Given the description of an element on the screen output the (x, y) to click on. 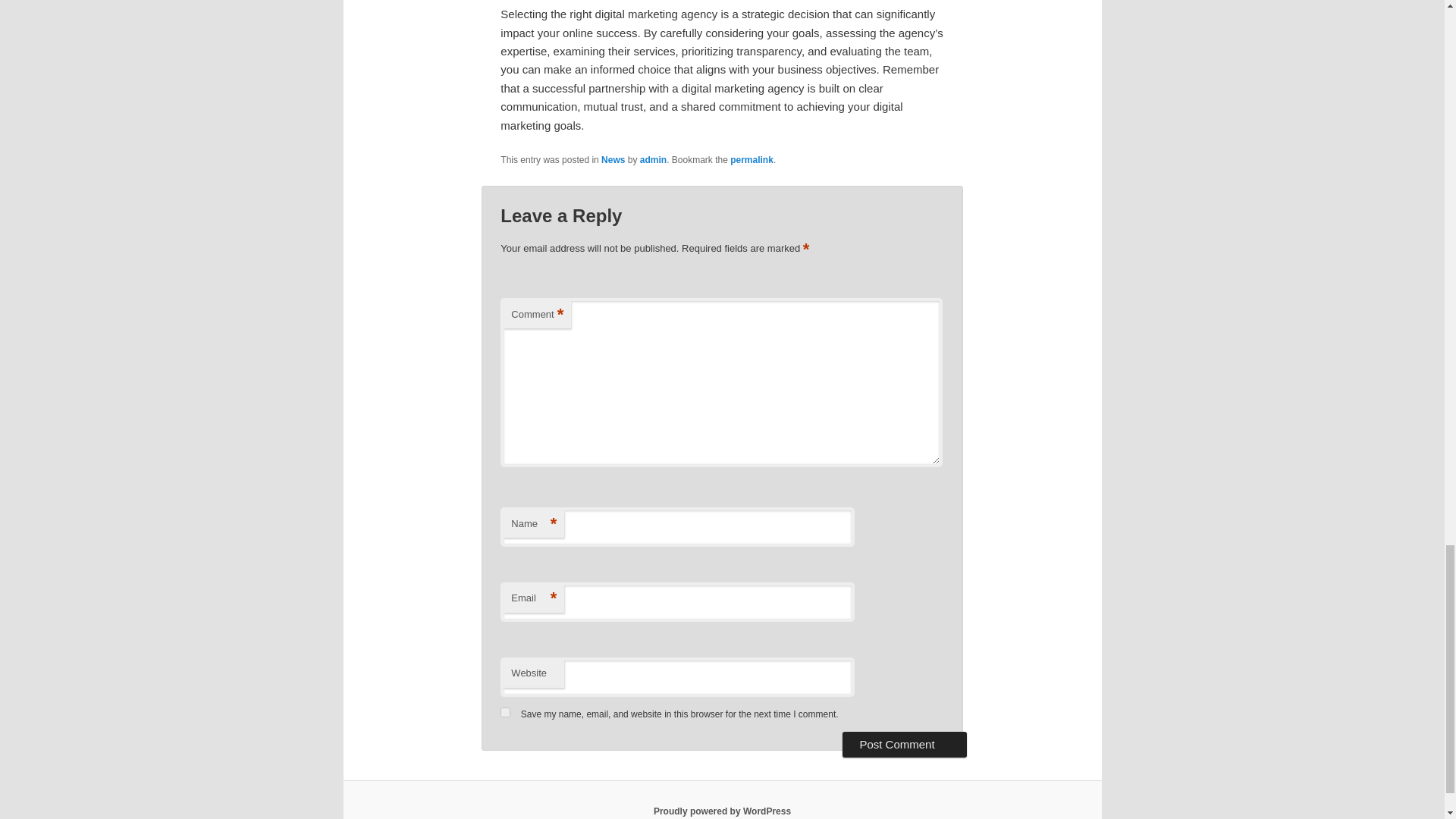
admin (653, 159)
Post Comment (904, 744)
Semantic Personal Publishing Platform (721, 810)
permalink (751, 159)
Proudly powered by WordPress (721, 810)
yes (505, 712)
News (612, 159)
Post Comment (904, 744)
